Given the description of an element on the screen output the (x, y) to click on. 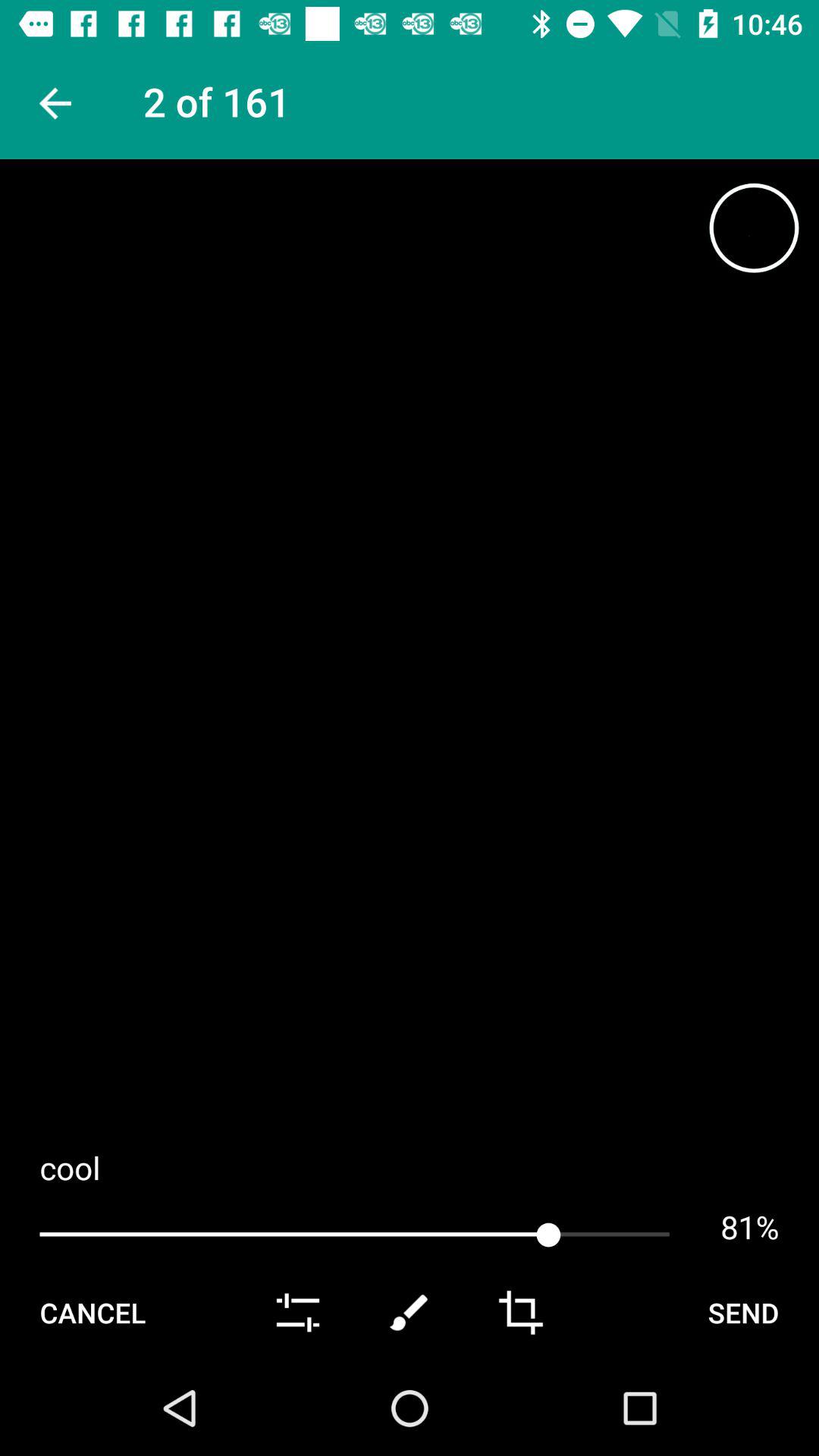
choose the item next to the send app (520, 1312)
